Given the description of an element on the screen output the (x, y) to click on. 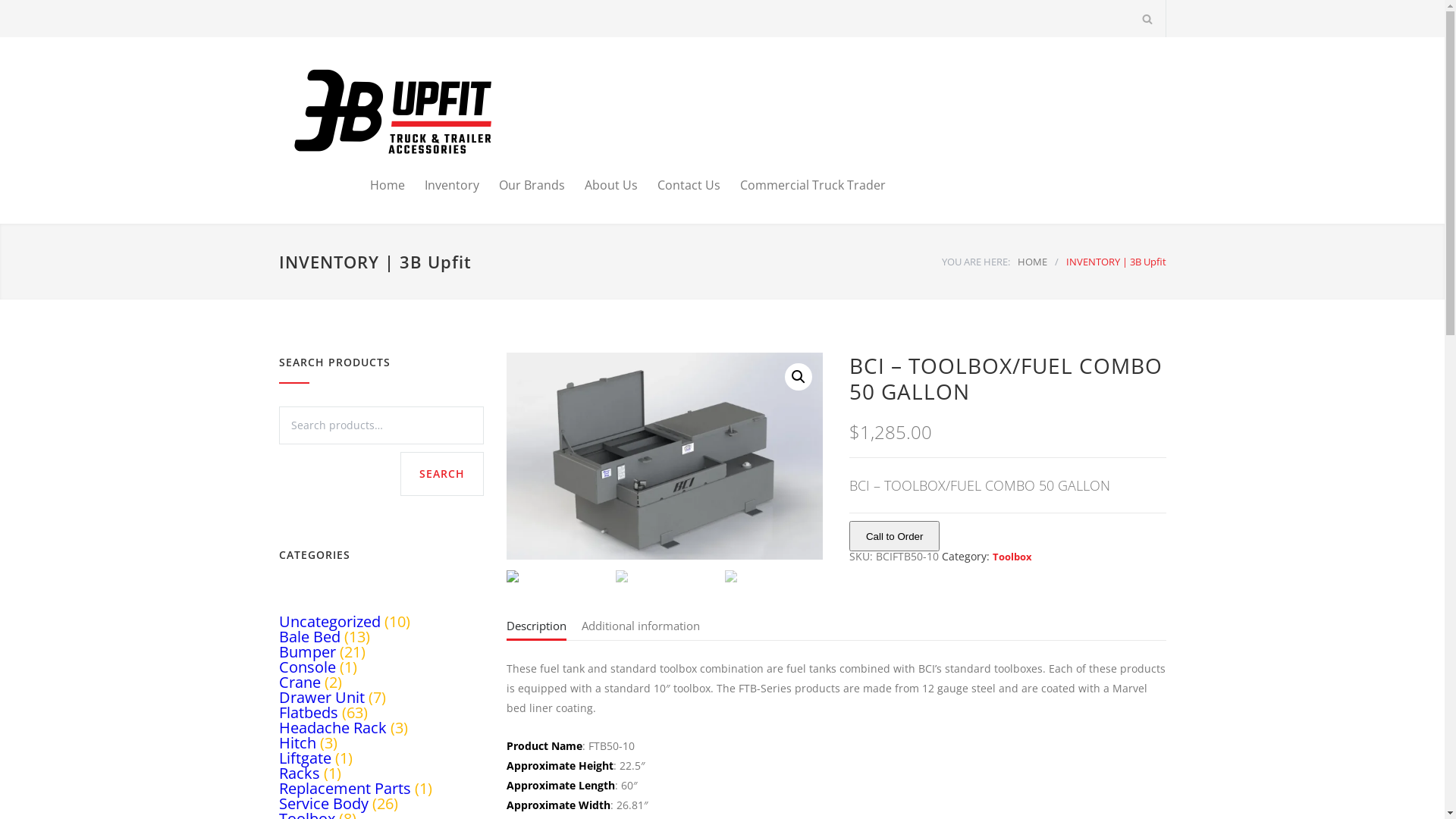
Our Brands Element type: text (521, 184)
Drawer Unit Element type: text (321, 697)
Bale Bed Element type: text (309, 636)
Toolbox Element type: text (1012, 556)
Crane Element type: text (299, 681)
Replacement Parts Element type: text (345, 788)
Home Element type: text (387, 184)
HOME Element type: text (1032, 261)
Hitch Element type: text (297, 742)
Flatbeds Element type: text (308, 712)
Uncategorized Element type: text (329, 621)
Contact Us Element type: text (678, 184)
Bumper Element type: text (307, 651)
3B Upfit Element type: hover (419, 111)
SEARCH Element type: text (441, 473)
About Us Element type: text (600, 184)
Console Element type: text (307, 666)
Service Body Element type: text (323, 803)
Liftgate Element type: text (305, 757)
Call to Order Element type: text (894, 535)
Search Element type: hover (1146, 18)
Inventory Element type: text (441, 184)
Description Element type: text (536, 629)
3c85f8_8ceea51ed1864a4b93109f5e1e533b24~mv2 Element type: hover (664, 455)
Racks Element type: text (299, 772)
Additional information Element type: text (639, 629)
Commercial Truck Trader Element type: text (802, 184)
Headache Rack Element type: text (332, 727)
